Given the description of an element on the screen output the (x, y) to click on. 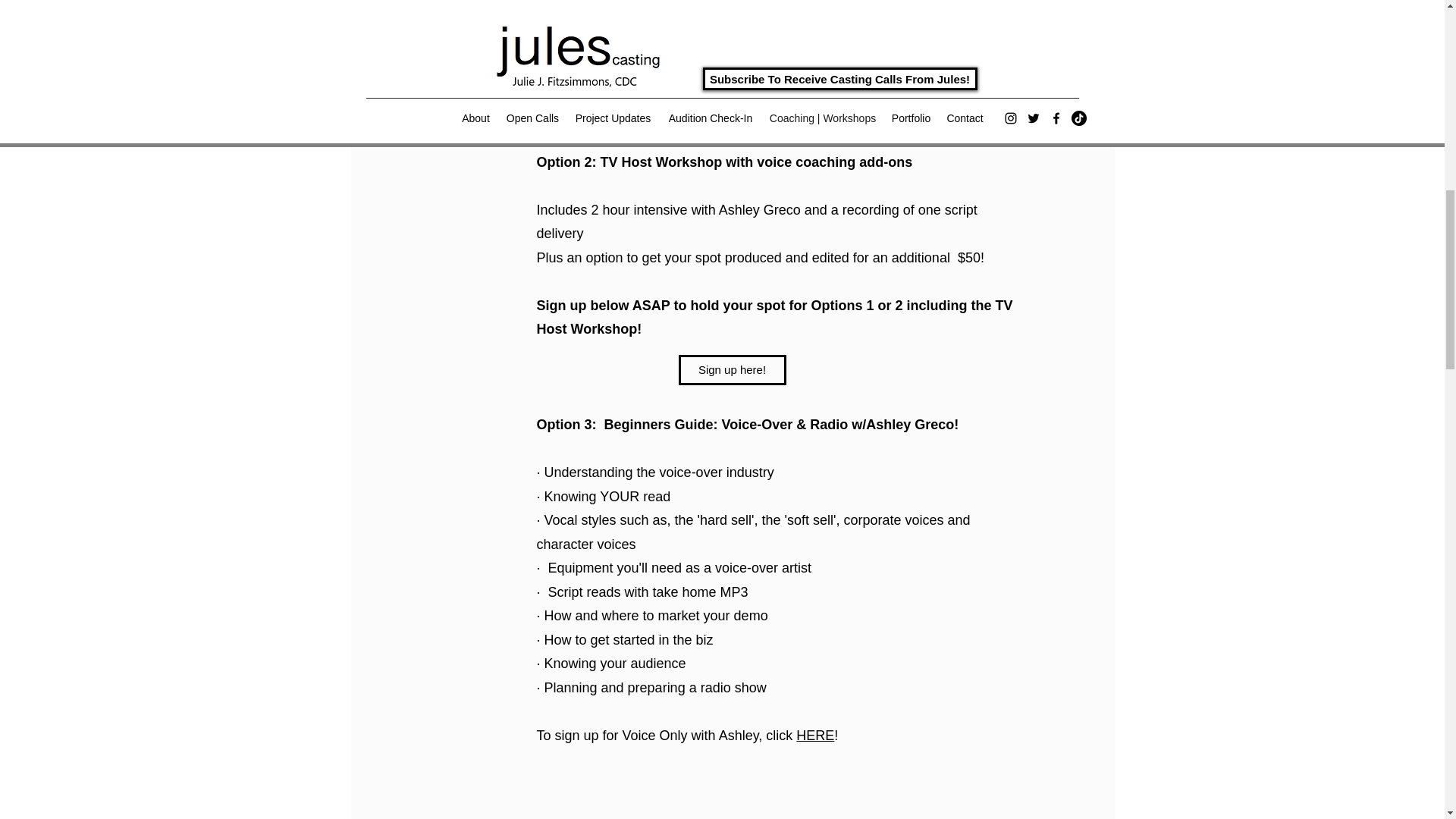
Sign up here! (732, 369)
HERE (815, 735)
